Given the description of an element on the screen output the (x, y) to click on. 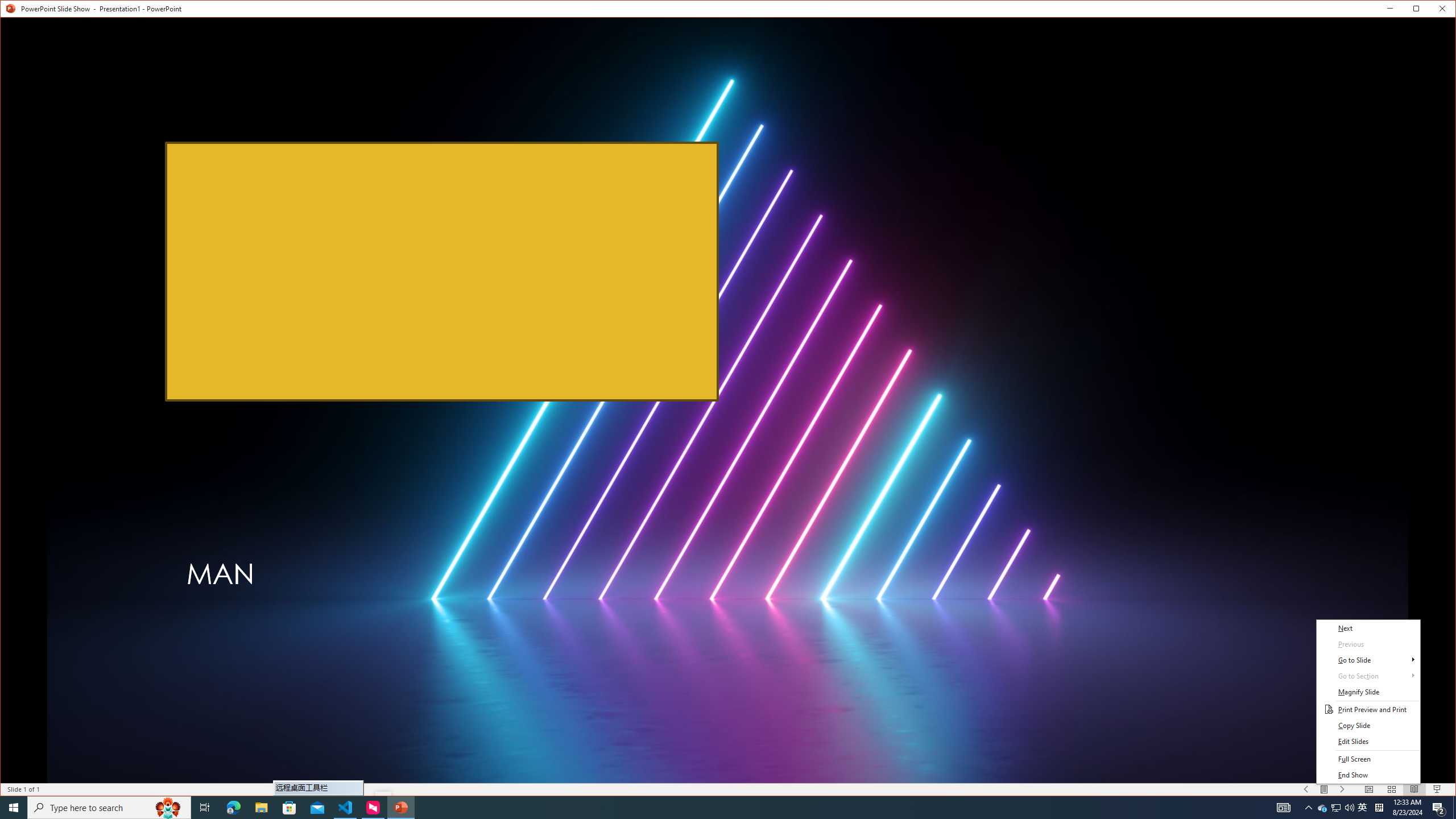
Go to Slide (1368, 660)
Full Screen (1368, 759)
Context Menu (1368, 701)
Go to Section (1368, 675)
Class: NetUITWMenuContainer (1368, 701)
Print Preview and Print (1368, 709)
